Given the description of an element on the screen output the (x, y) to click on. 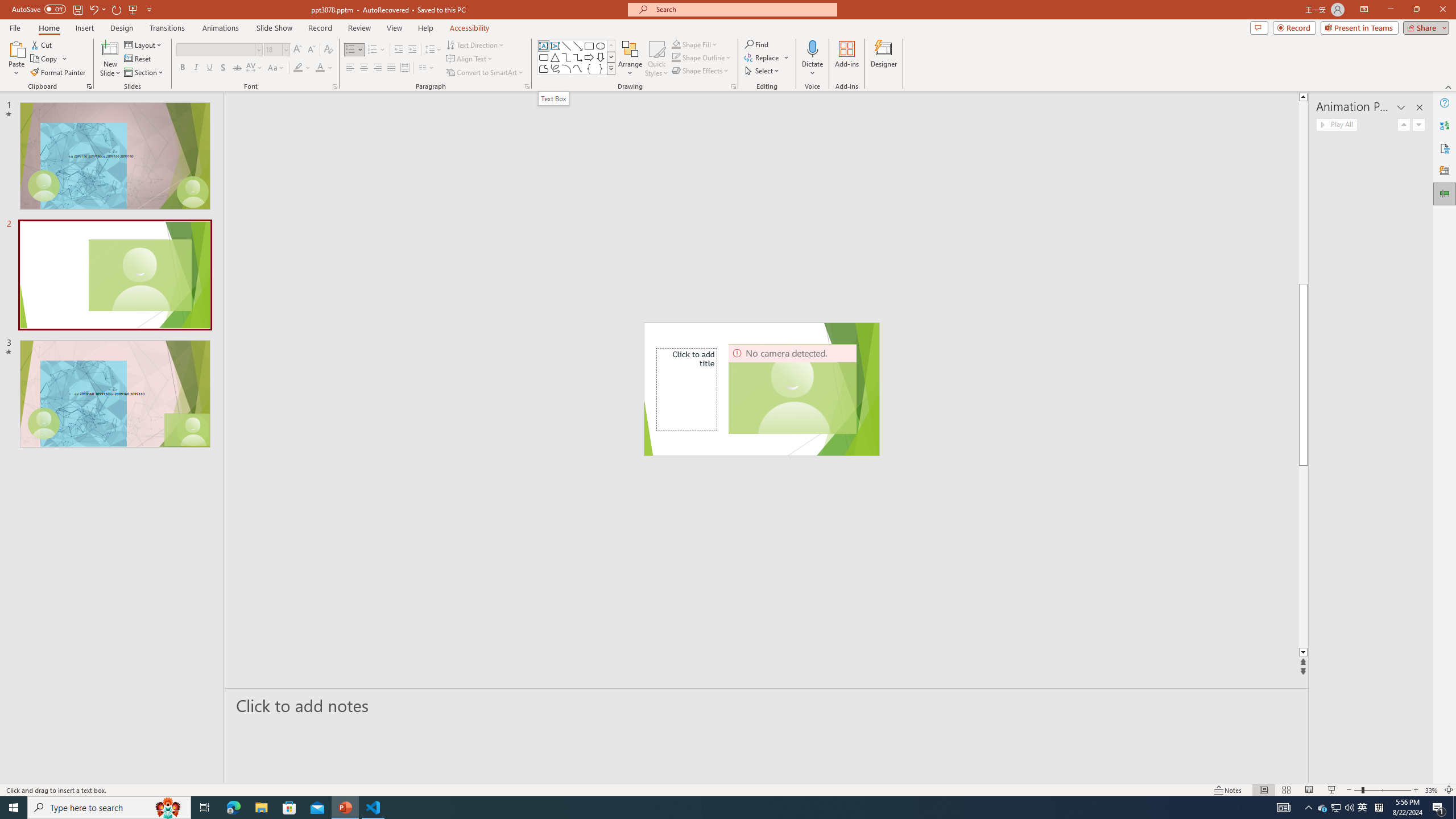
Zoom 33% (1431, 790)
Shape Outline (701, 56)
